Given the description of an element on the screen output the (x, y) to click on. 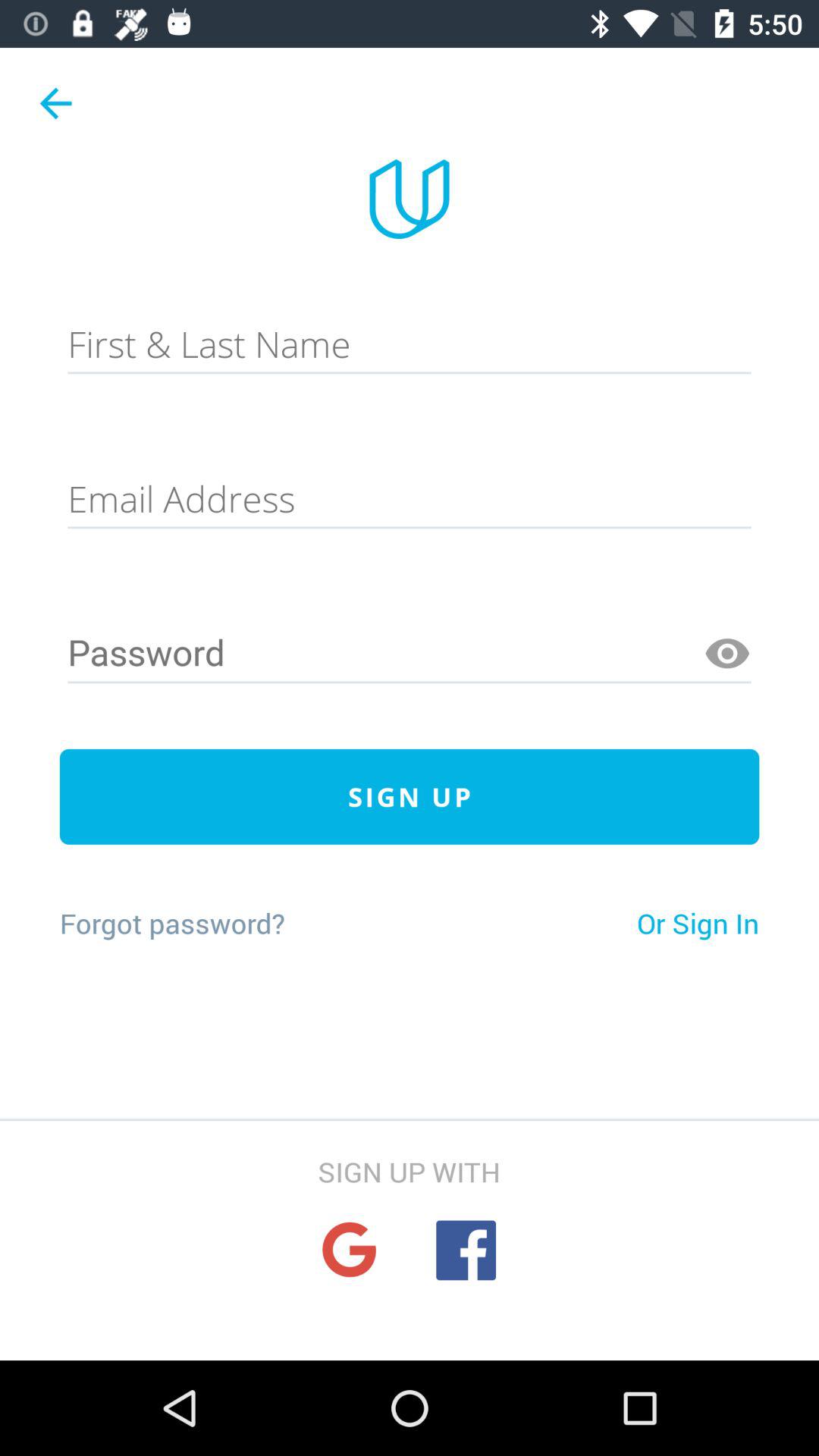
e-mail bar (409, 499)
